Given the description of an element on the screen output the (x, y) to click on. 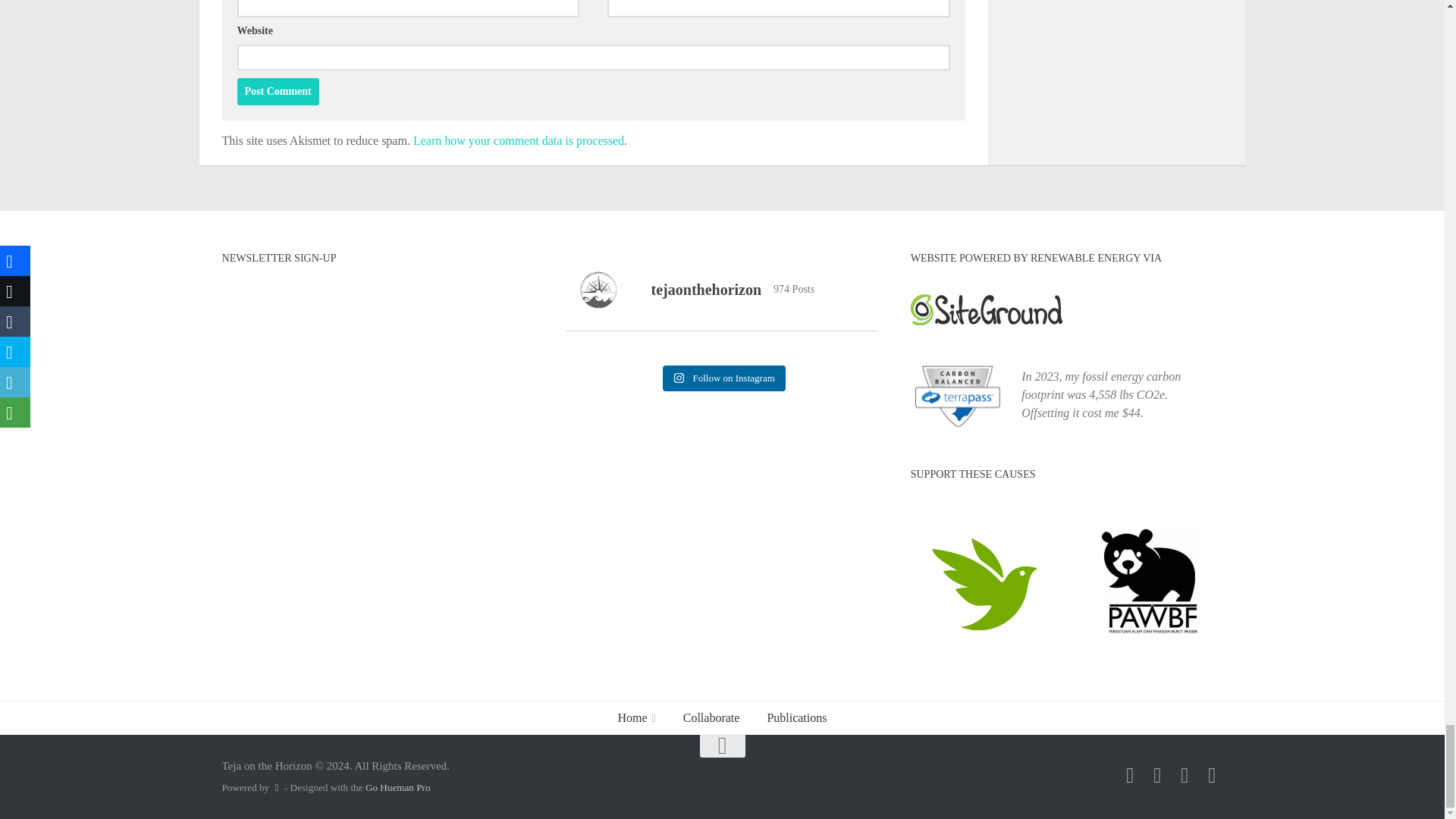
Post Comment (276, 91)
Powered by WordPress (275, 787)
Join the Horizon (1129, 775)
Go Hueman Pro (397, 787)
